Given the description of an element on the screen output the (x, y) to click on. 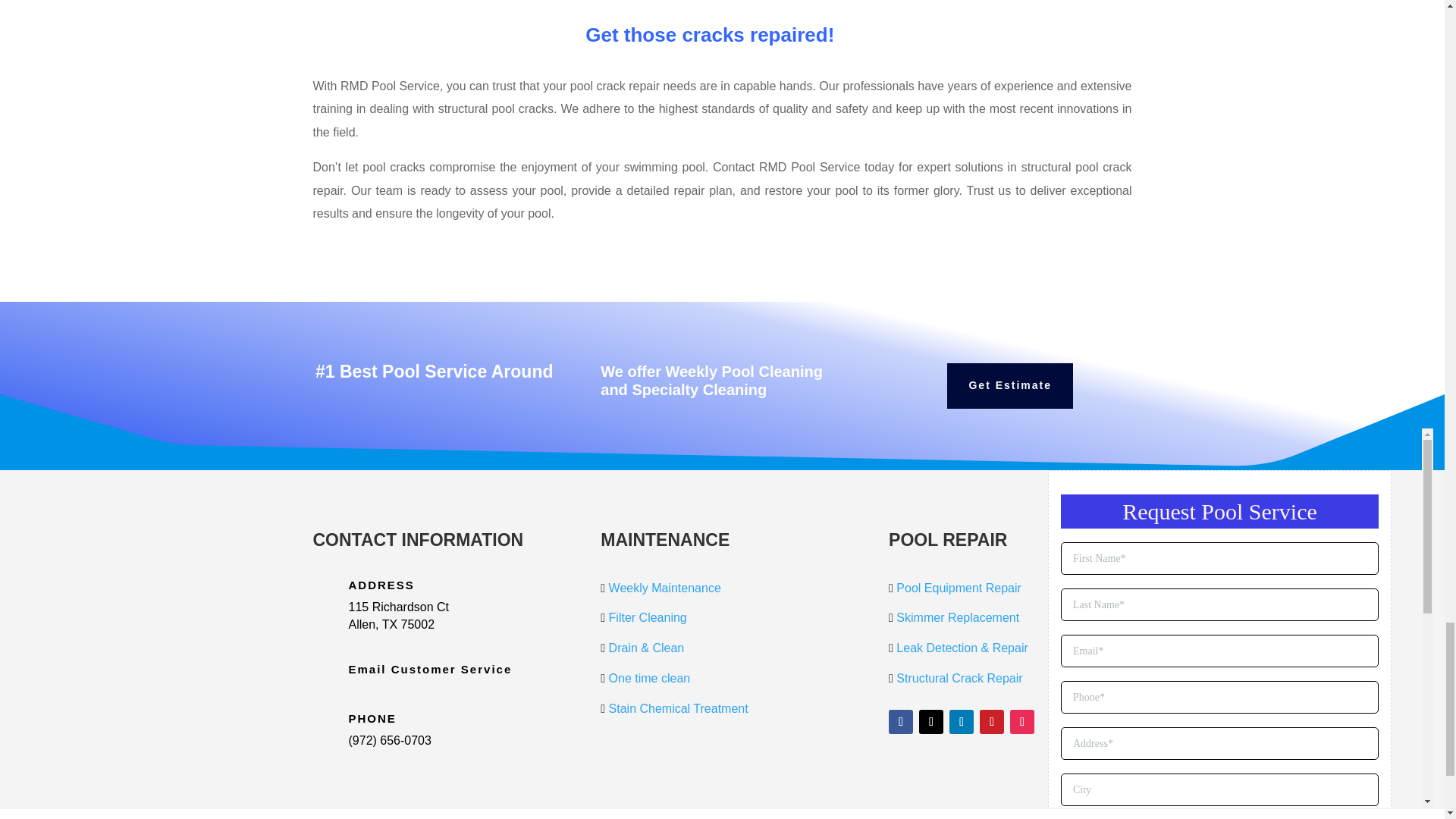
Follow on Pinterest (991, 721)
Follow on LinkedIn (961, 721)
Follow on Instagram (1021, 721)
Follow on Facebook (900, 721)
Follow on X (930, 721)
